Given the description of an element on the screen output the (x, y) to click on. 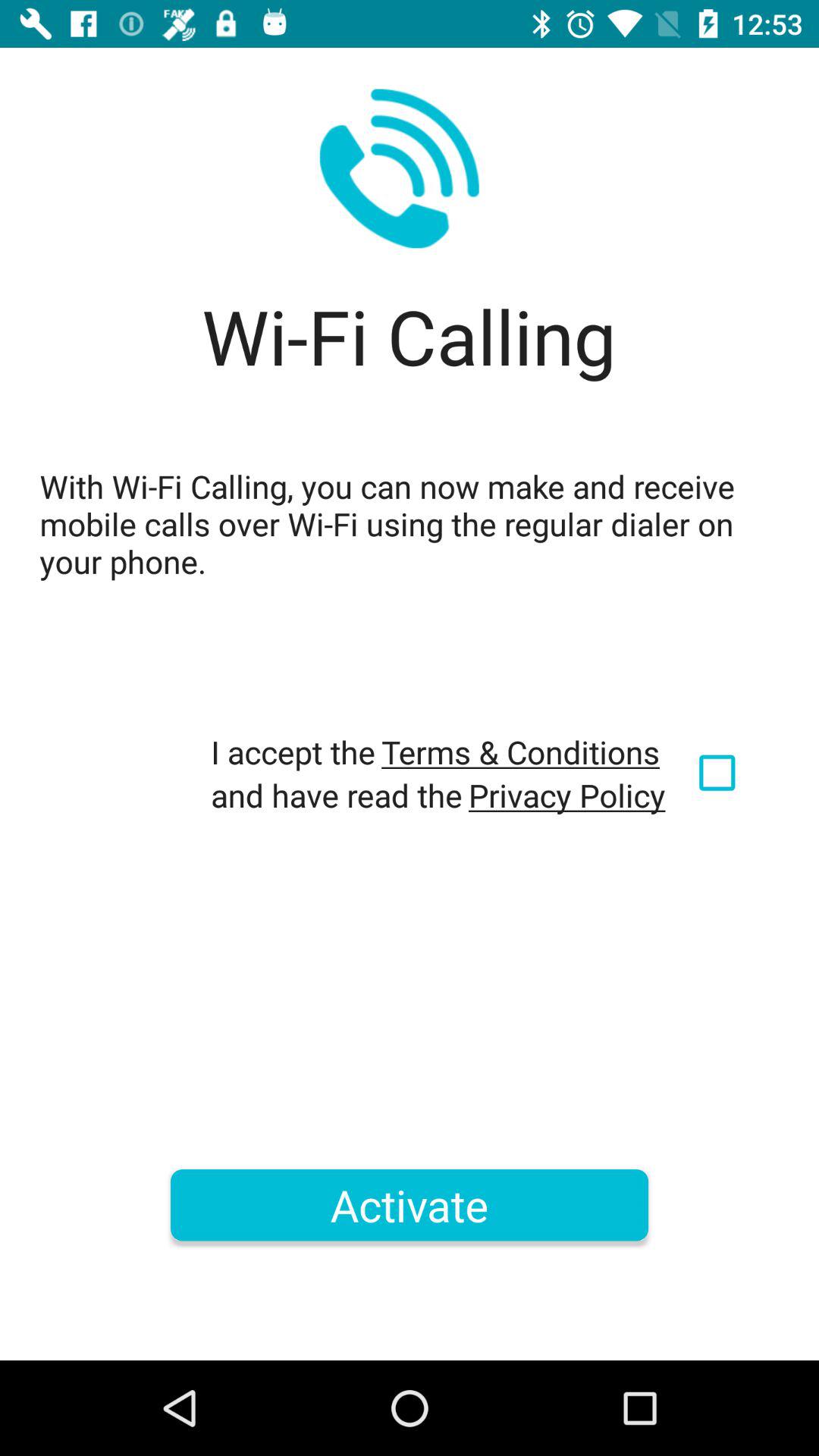
select the icon next to and have read icon (566, 794)
